Given the description of an element on the screen output the (x, y) to click on. 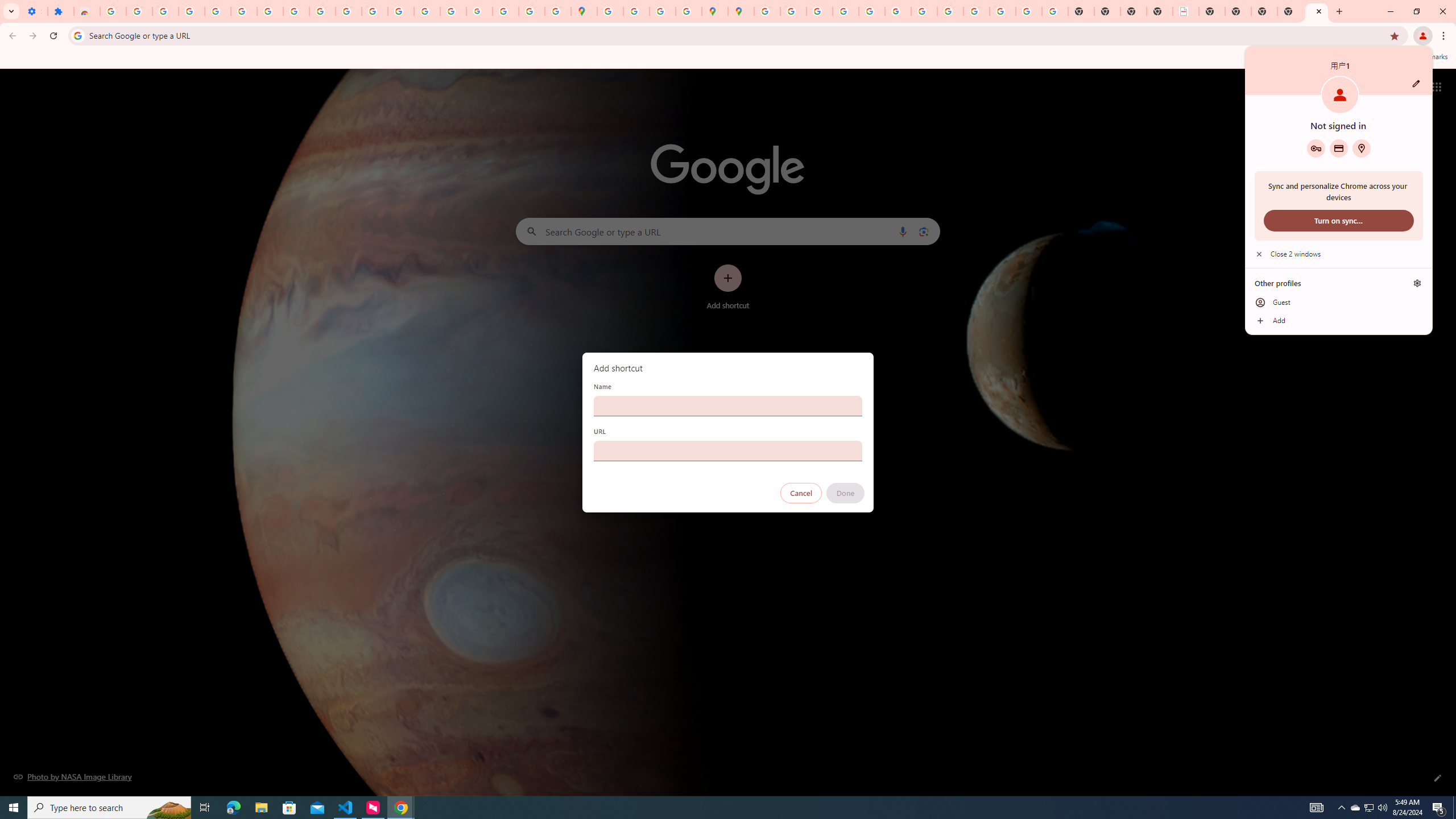
Action Center, 5 new notifications (1439, 807)
Privacy Help Center - Policies Help (818, 11)
Done (845, 493)
https://scholar.google.com/ (374, 11)
Search highlights icon opens search home window (167, 807)
Settings - On startup (34, 11)
Sign in - Google Accounts (243, 11)
Microsoft Store (289, 807)
